Given the description of an element on the screen output the (x, y) to click on. 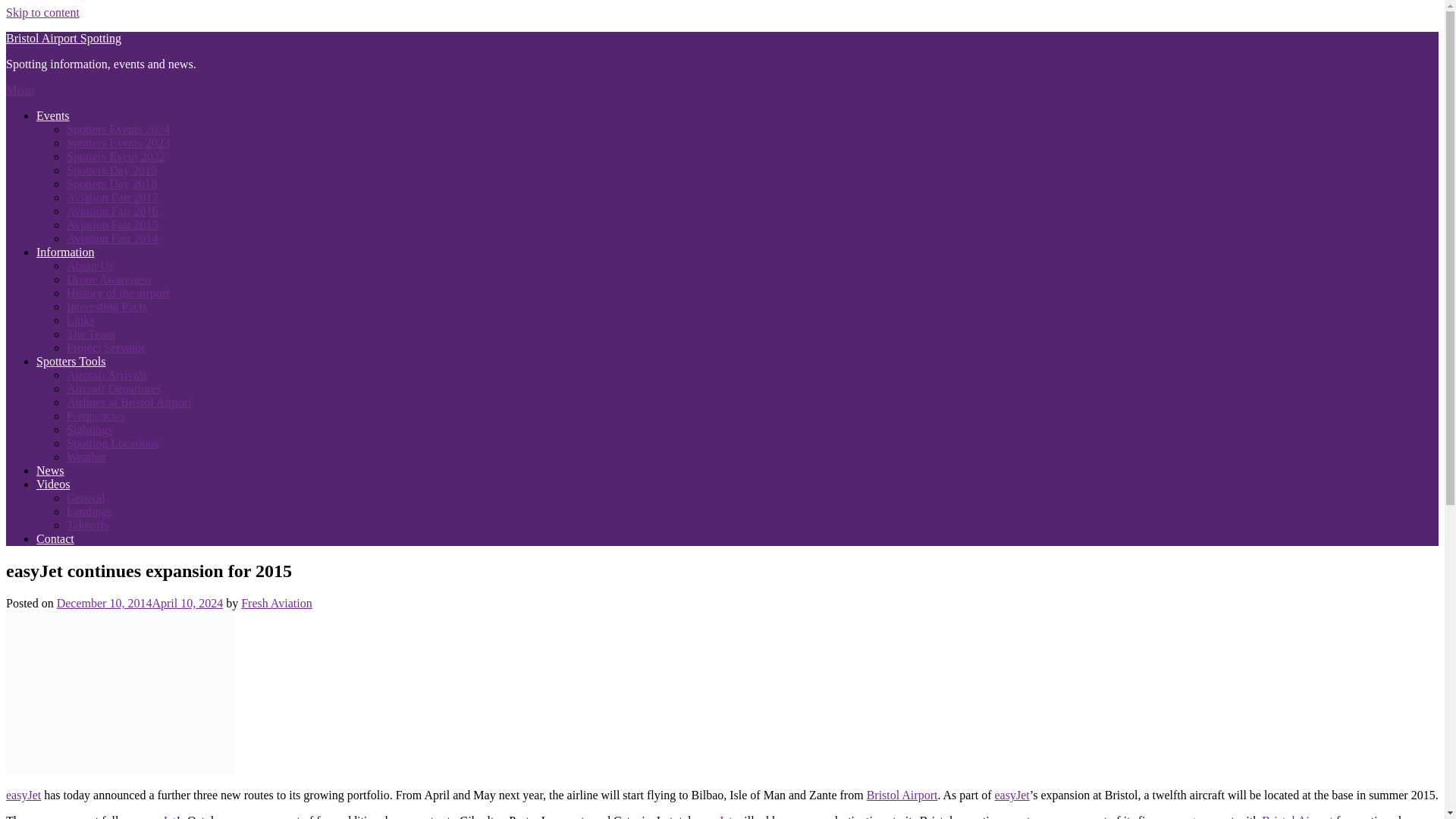
History of the airport (118, 292)
Airlines at Bristol Airport (129, 401)
Information (65, 251)
Spotters Event 2022 (115, 155)
Aviation Fair 2015 (112, 224)
Aviation Fair 2014 (112, 237)
Bristol Airport (901, 794)
Spotters Day 2018 (111, 183)
Aviation Fair 2017 (112, 196)
About Us (89, 265)
